Given the description of an element on the screen output the (x, y) to click on. 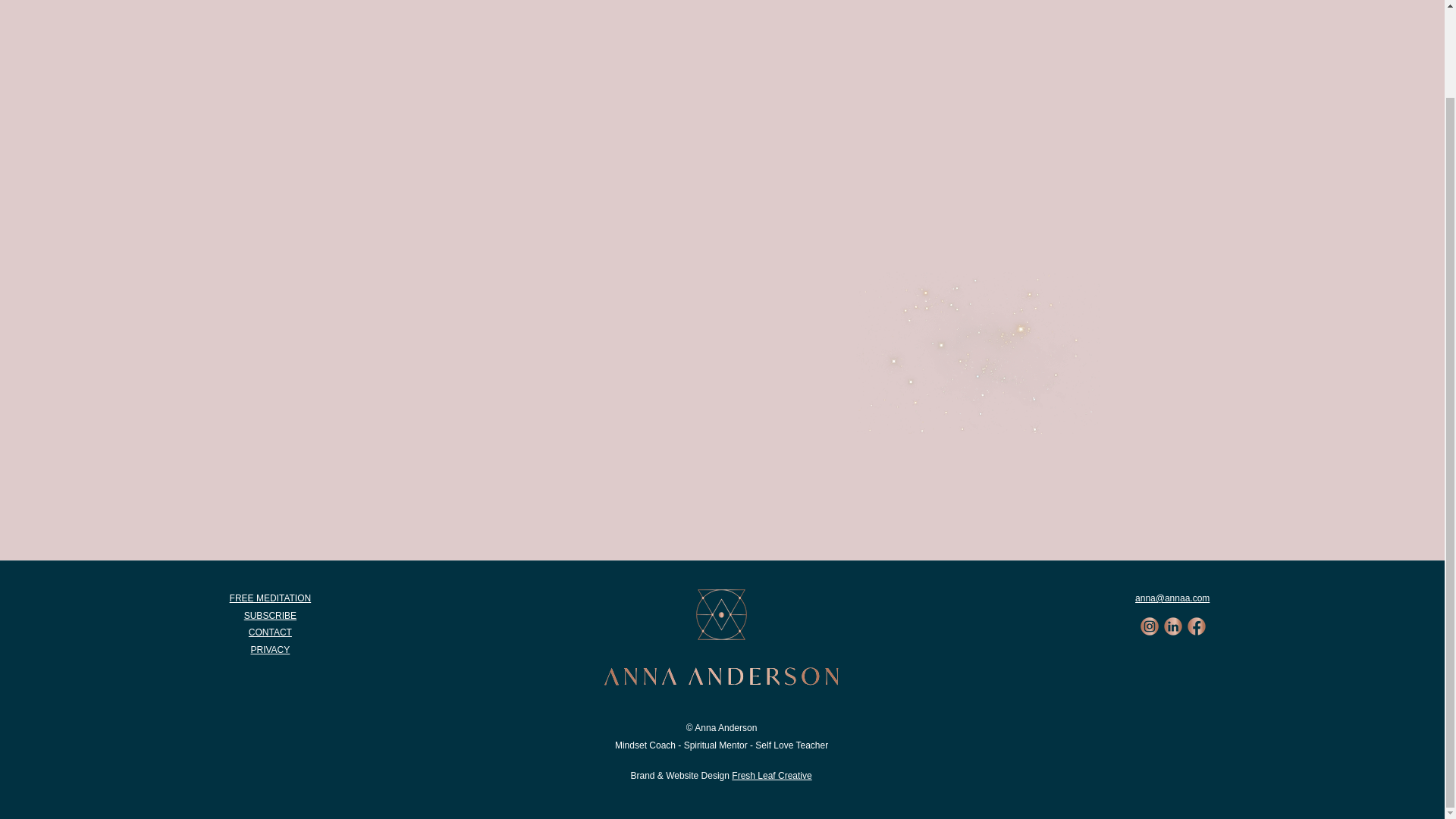
FREE MEDITATION (270, 597)
PRIVACY (269, 649)
CONTACT (270, 632)
SUBSCRIBE (270, 615)
image-from-rawpixel-id-12672331-original.png (978, 348)
Fresh Leaf Creative (771, 775)
